Given the description of an element on the screen output the (x, y) to click on. 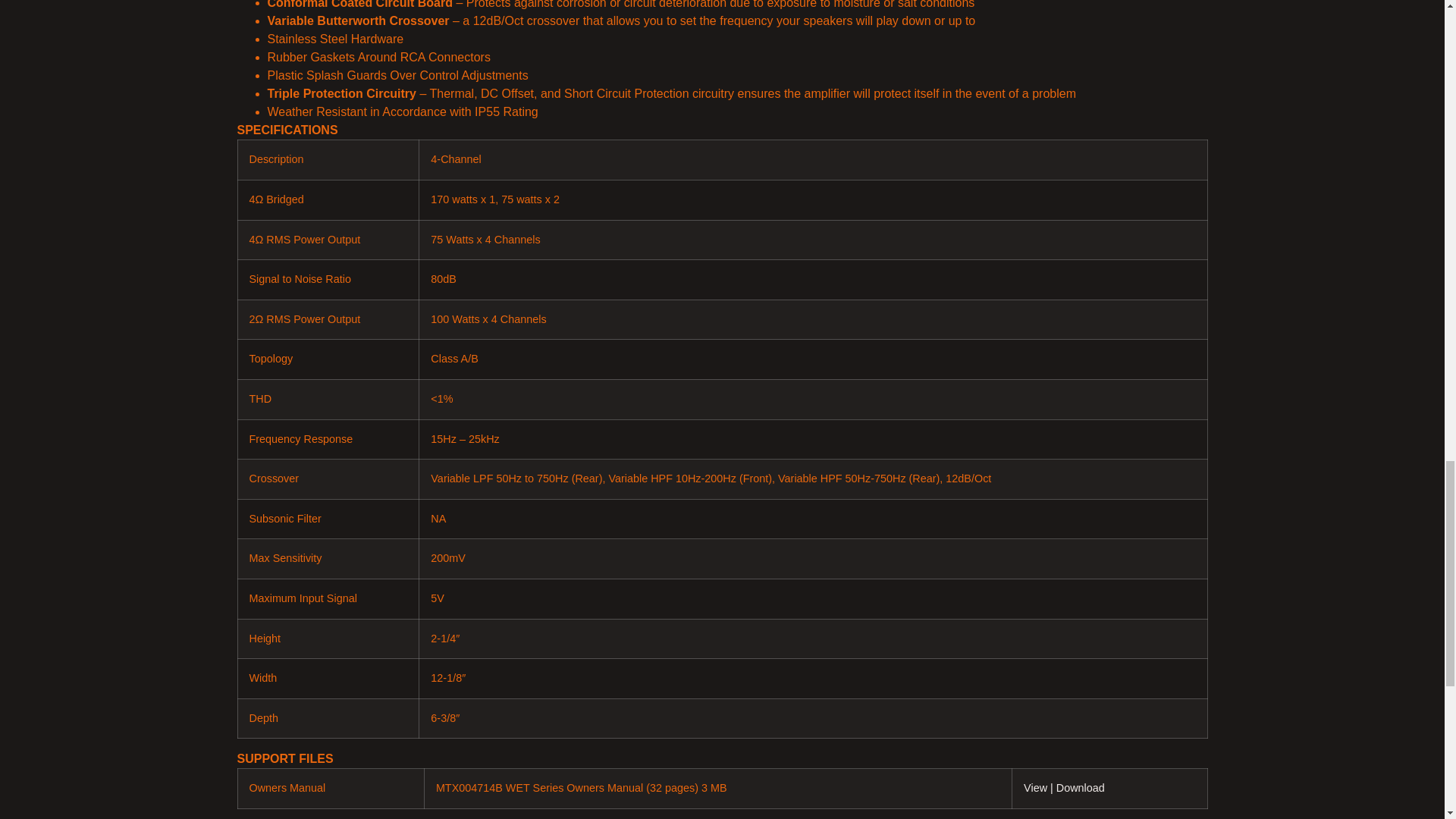
MTX004714B-WET-Series-Owners-Manual.pdf (1081, 787)
MTX004714B-WET-Series-Owners-Manual.pdf (1040, 787)
